Given the description of an element on the screen output the (x, y) to click on. 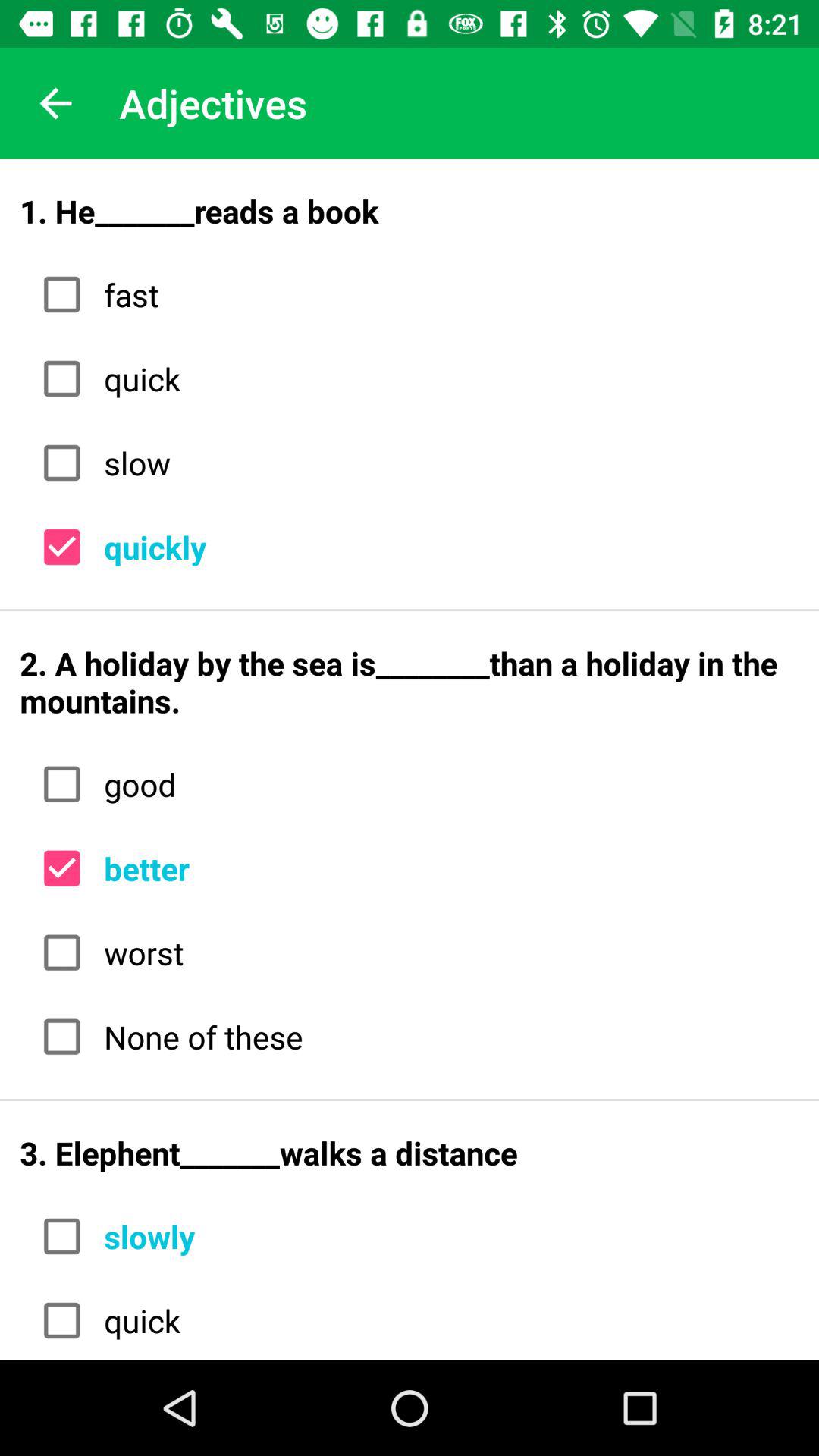
launch the icon below slow (446, 546)
